Given the description of an element on the screen output the (x, y) to click on. 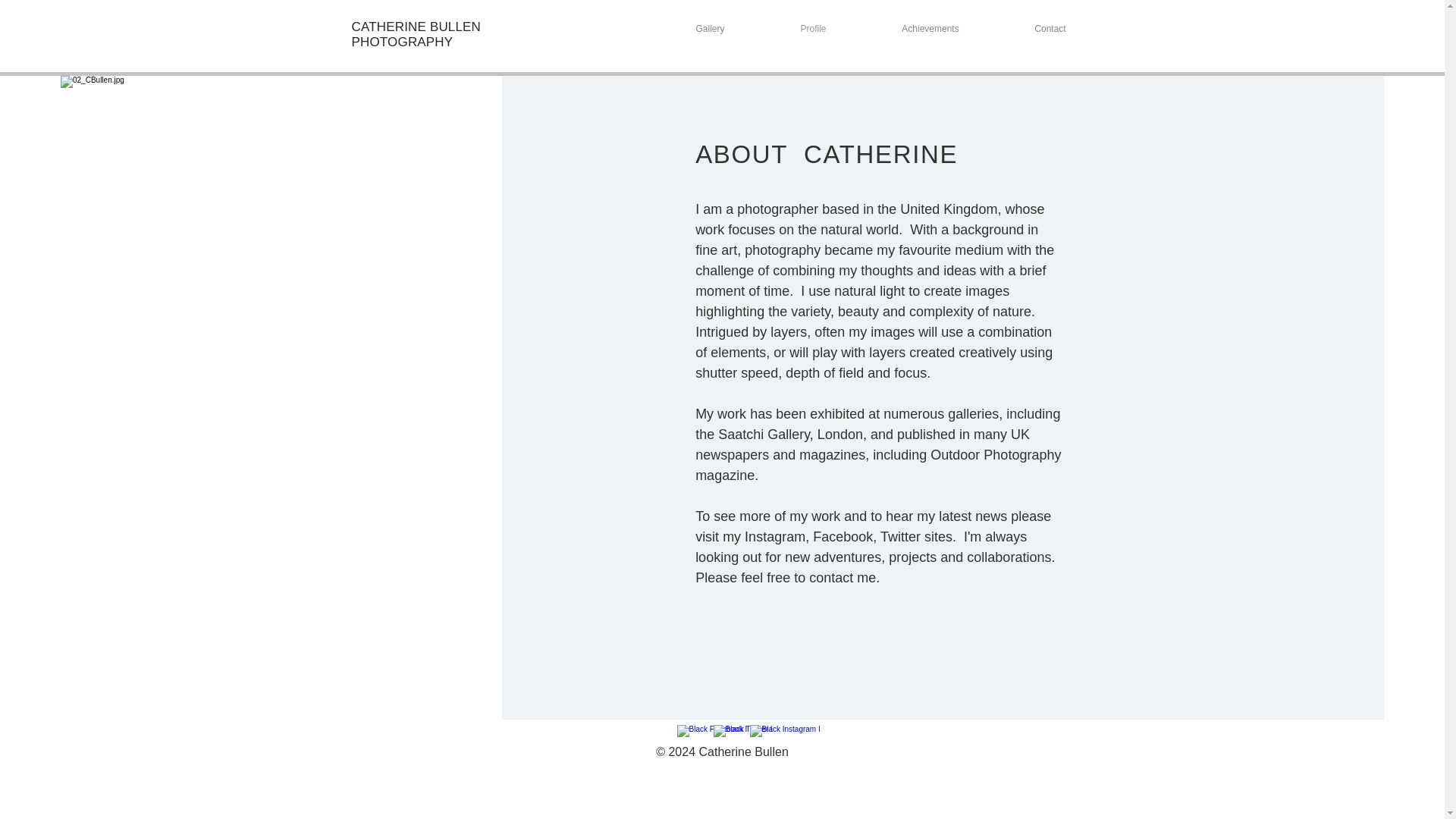
Achievements (930, 28)
Contact (1049, 28)
CATHERINE BULLEN PHOTOGRAPHY (416, 34)
Gallery (710, 28)
Profile (813, 28)
